Given the description of an element on the screen output the (x, y) to click on. 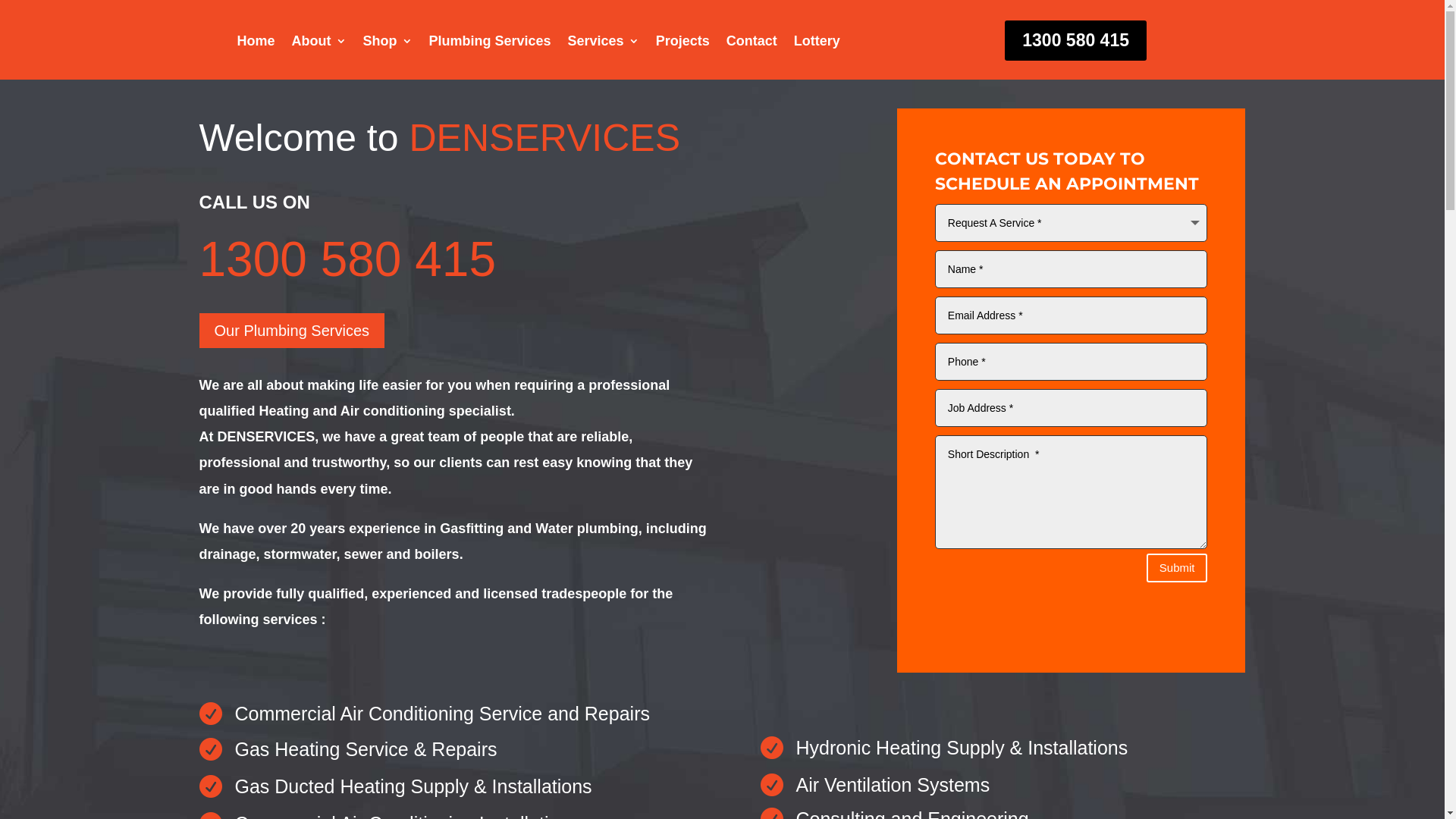
Contact Element type: text (751, 43)
Shop Element type: text (386, 43)
About Element type: text (318, 43)
Plumbing Services Element type: text (490, 43)
Projects Element type: text (682, 43)
Home Element type: text (255, 43)
1300 580 415 Element type: text (346, 259)
Services Element type: text (603, 43)
Submit Element type: text (1177, 568)
Our Plumbing Services Element type: text (291, 330)
Lottery Element type: text (816, 43)
1300 580 415 Element type: text (1075, 40)
